Given the description of an element on the screen output the (x, y) to click on. 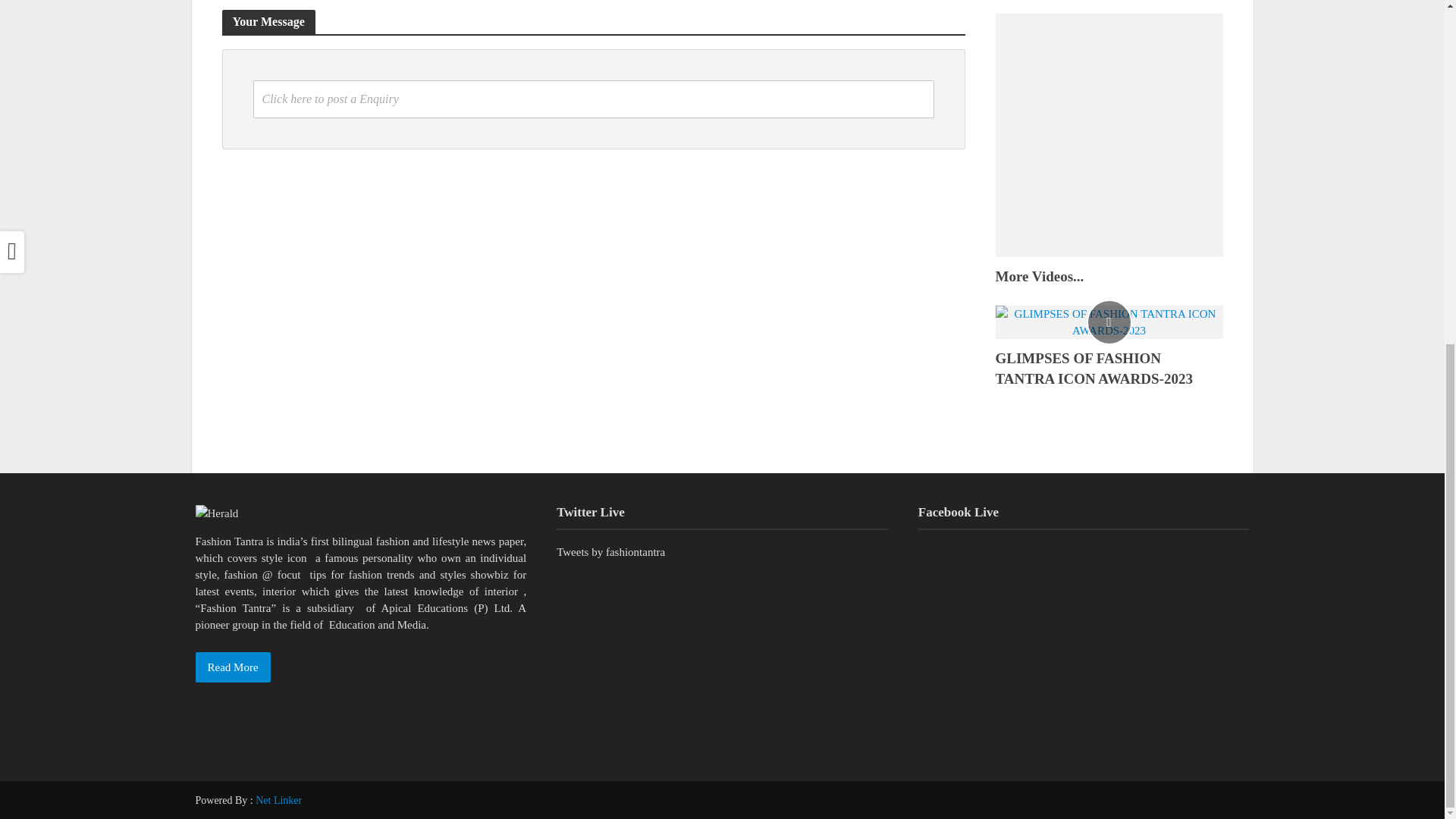
GLIMPSES OF FASHION TANTRA ICON AWARDS-2023 (1108, 320)
